Given the description of an element on the screen output the (x, y) to click on. 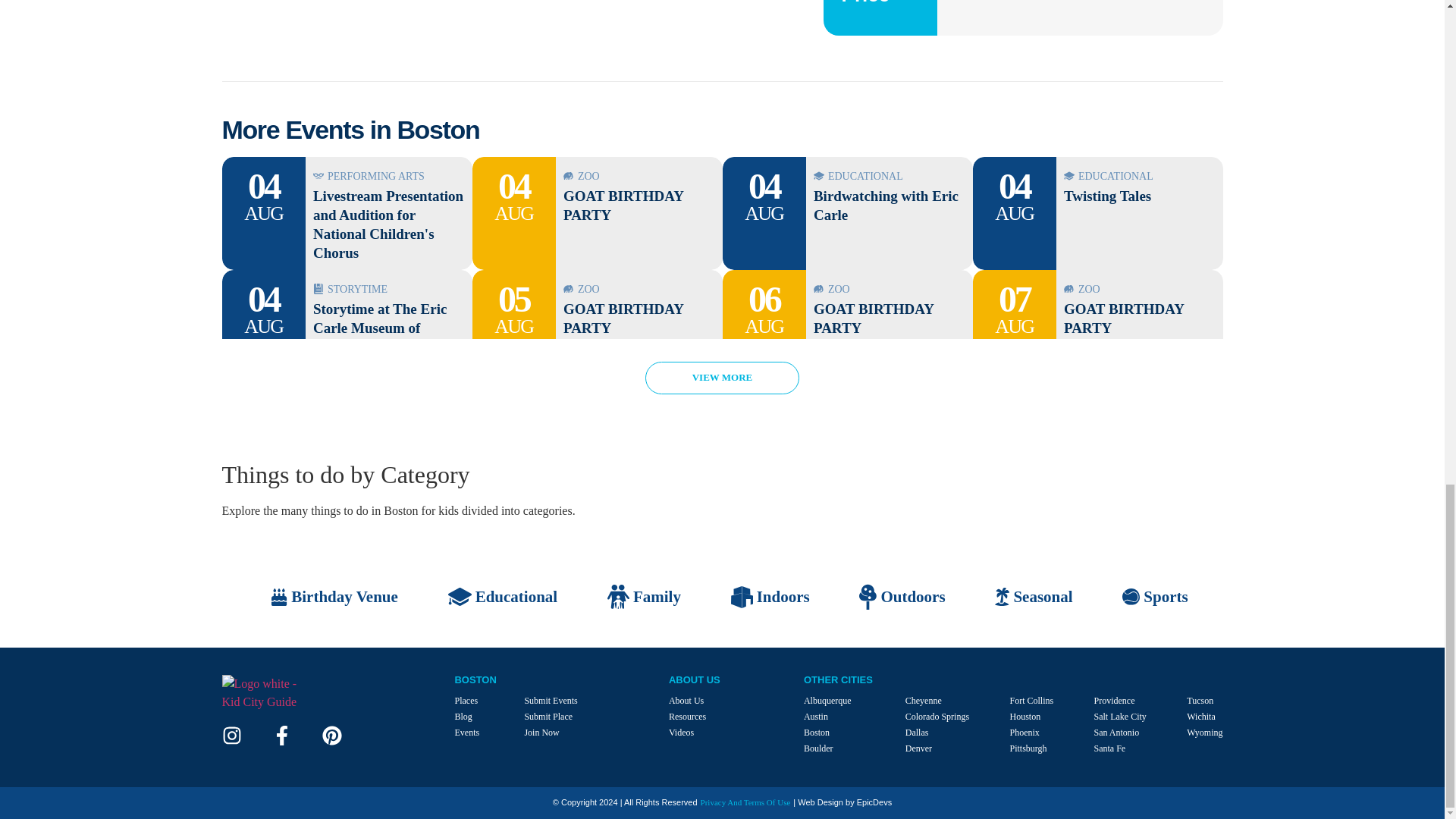
PERFORMING ARTS (388, 177)
